Given the description of an element on the screen output the (x, y) to click on. 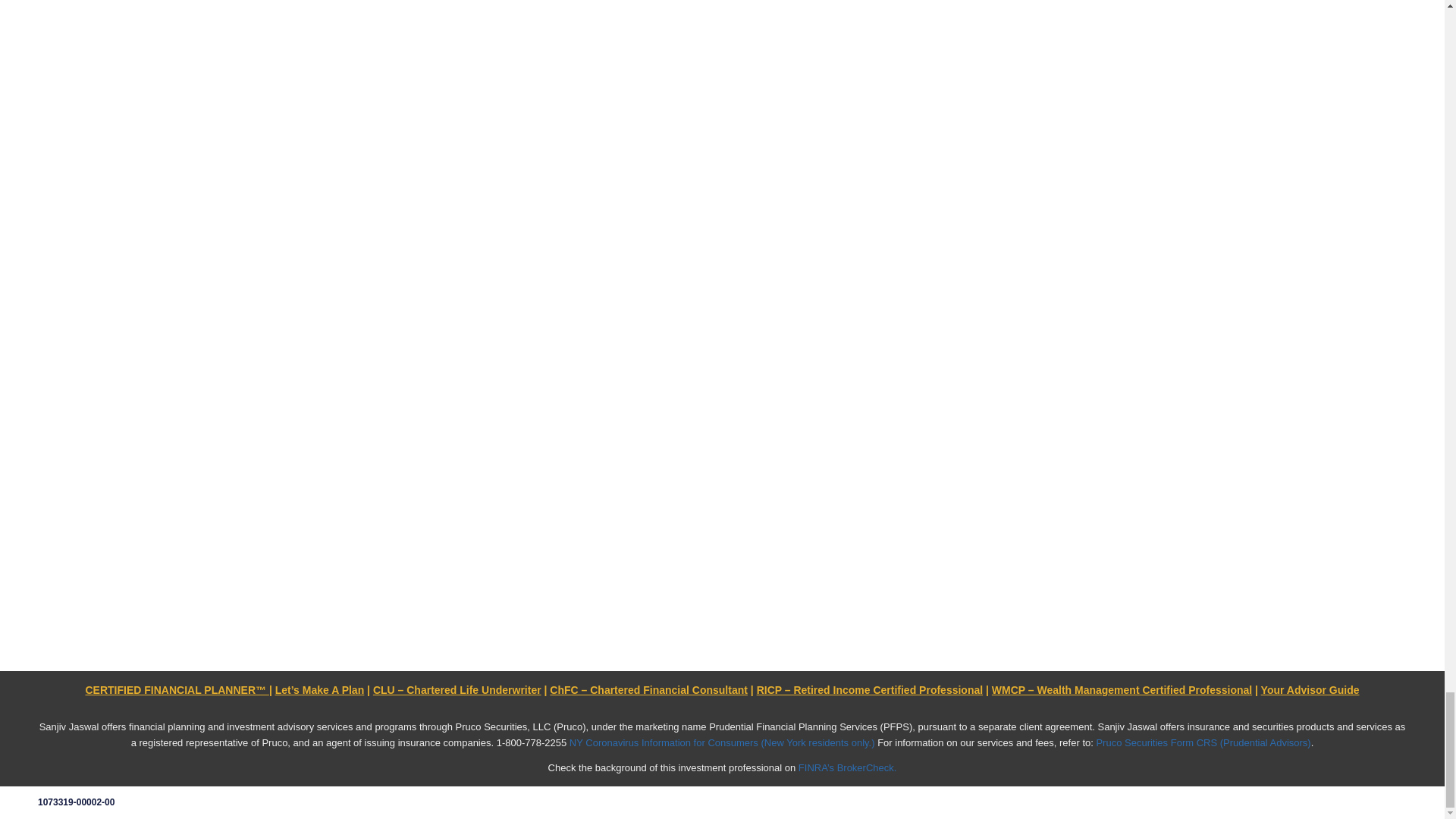
Your Advisor Guide (1309, 689)
